Given the description of an element on the screen output the (x, y) to click on. 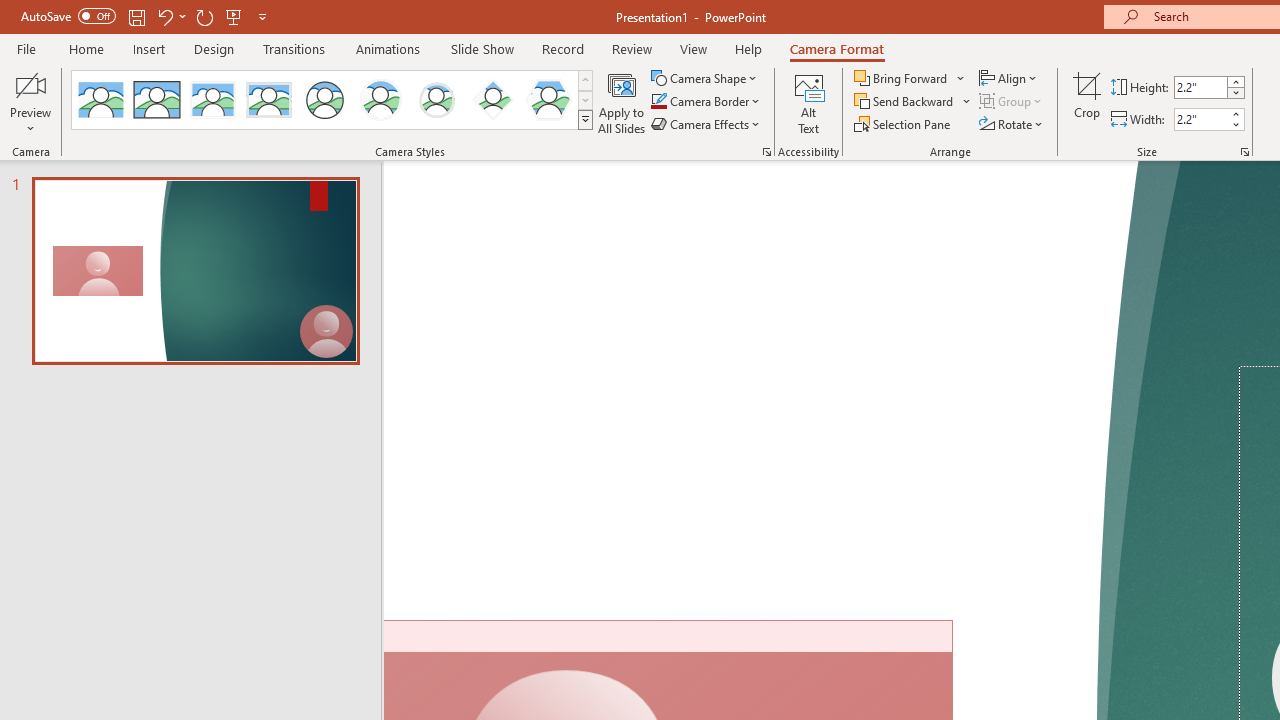
Cameo Height (1201, 87)
Camera Format (836, 48)
Bring Forward (910, 78)
Camera Effects (706, 124)
Soft Edge Rectangle (268, 100)
Alt Text (808, 102)
